Given the description of an element on the screen output the (x, y) to click on. 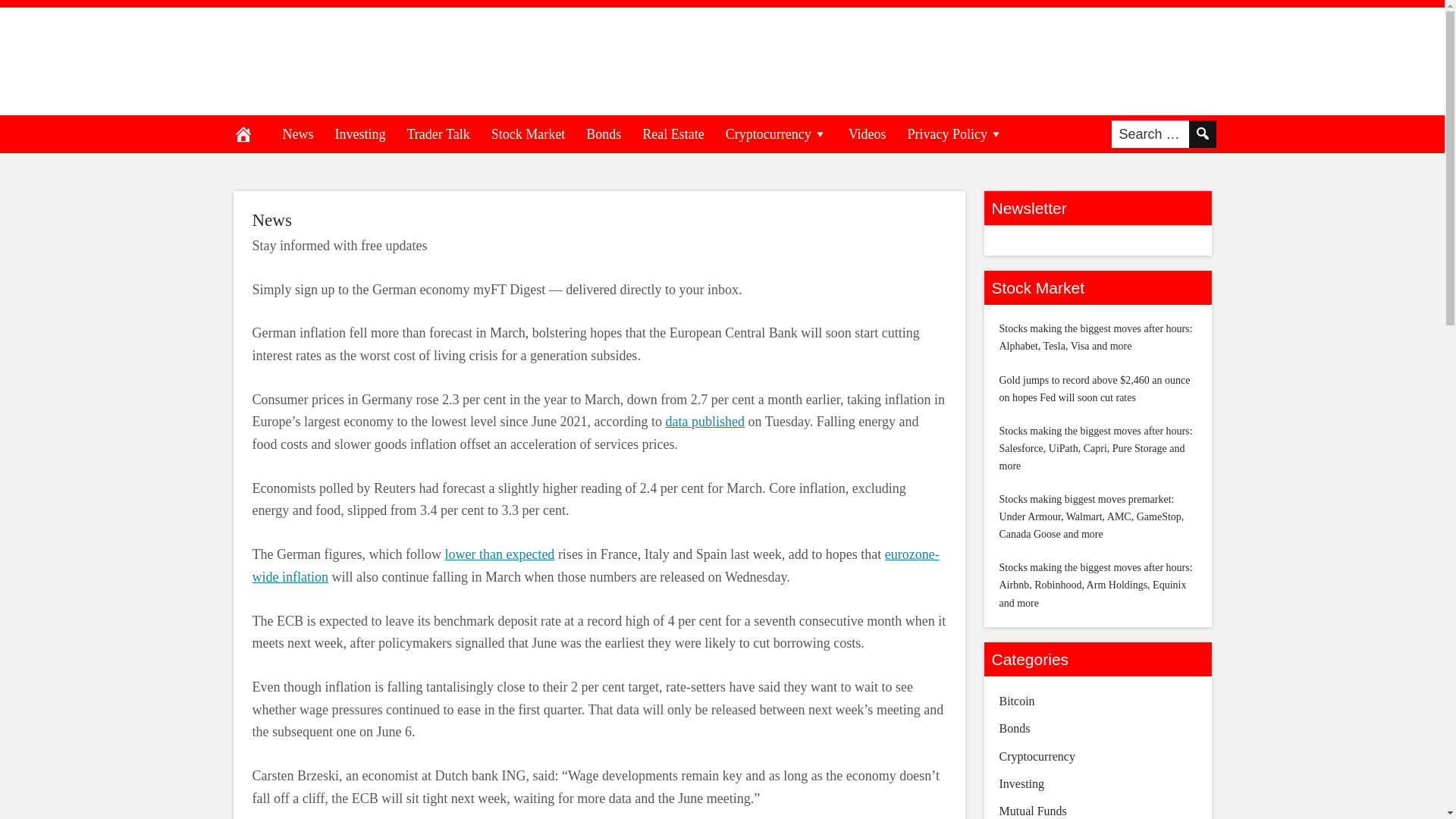
Real Estate (672, 134)
News (271, 220)
lower than expected (499, 554)
Videos (867, 134)
News (271, 220)
Cryptocurrency (776, 134)
data published (704, 421)
Privacy Policy (955, 134)
Trader Talk (438, 134)
Stock Market (527, 134)
Investing (360, 134)
Bonds (603, 134)
News (296, 134)
